Given the description of an element on the screen output the (x, y) to click on. 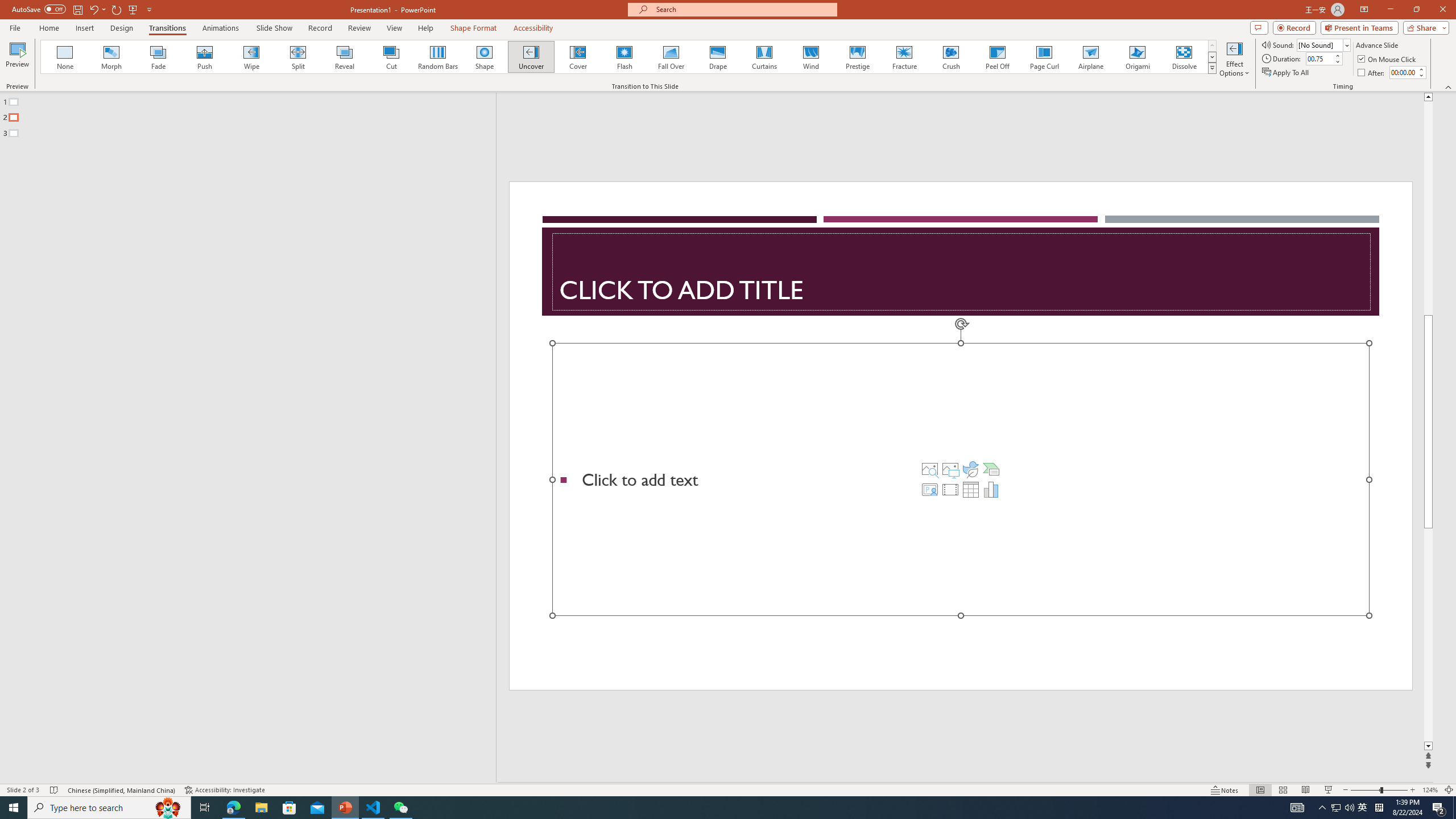
Dissolve (1183, 56)
Insert Chart (991, 489)
None (65, 56)
Drape (717, 56)
Push (205, 56)
Origami (1136, 56)
Fade (158, 56)
